Given the description of an element on the screen output the (x, y) to click on. 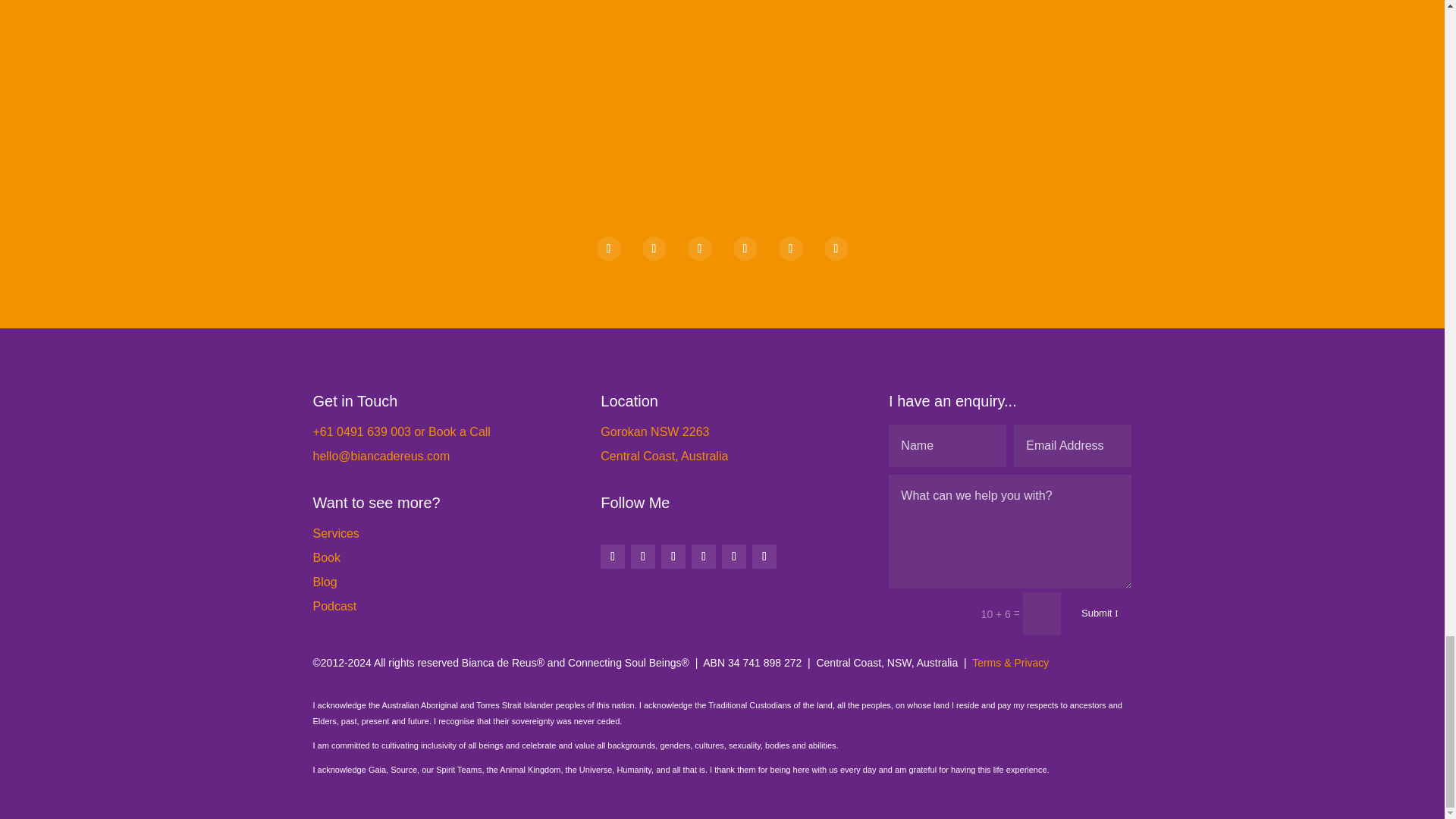
Follow on Facebook (653, 248)
Follow on LinkedIn (607, 248)
Follow on LinkedIn (611, 556)
Follow on Youtube (835, 248)
Follow on Vimeo (703, 556)
Follow on Youtube (733, 556)
Follow on Telegram (744, 248)
Follow on Instagram (699, 248)
Follow on Facebook (642, 556)
Follow on Spotify (789, 248)
Follow on Instagram (673, 556)
